Given the description of an element on the screen output the (x, y) to click on. 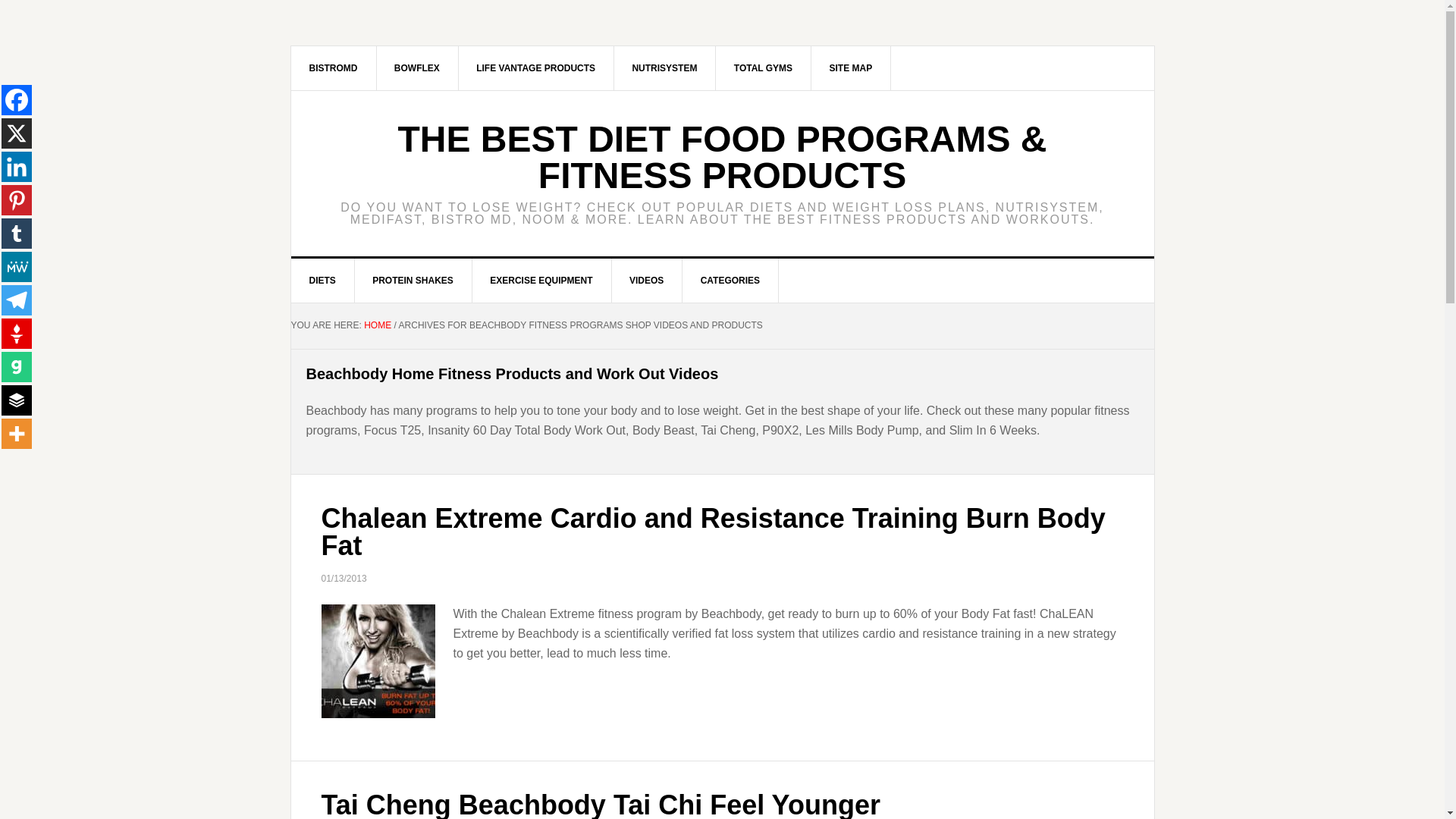
Tumblr (16, 233)
BISTROMD (334, 67)
Pinterest (16, 200)
Nutrisystem Fresh Start Diet (664, 67)
X (16, 132)
TOTAL GYMS (763, 67)
Telegram (16, 300)
MeWe (16, 266)
Exercise Equipment for Your Home (541, 280)
